Given the description of an element on the screen output the (x, y) to click on. 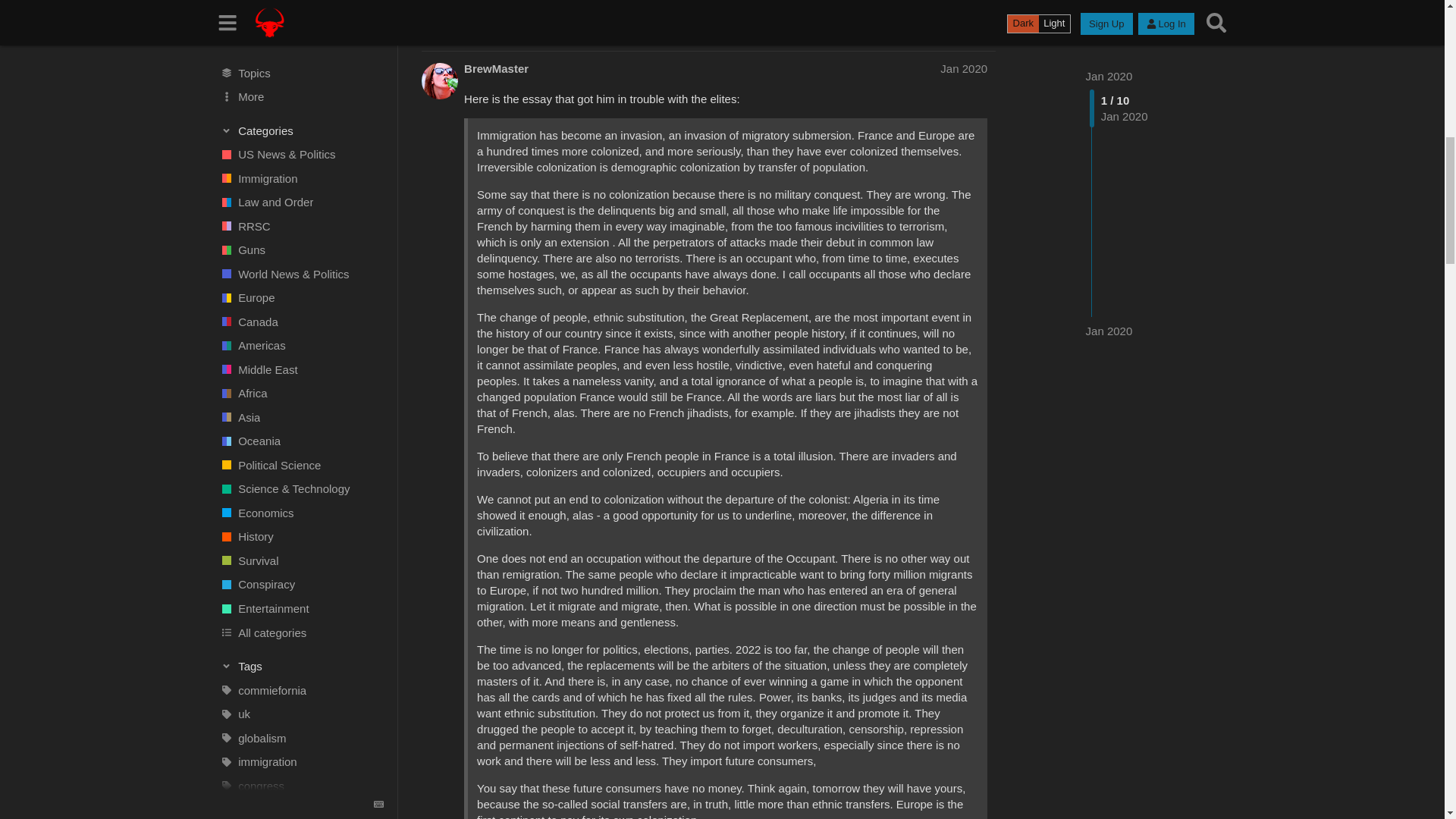
All tags (295, 1)
